Given the description of an element on the screen output the (x, y) to click on. 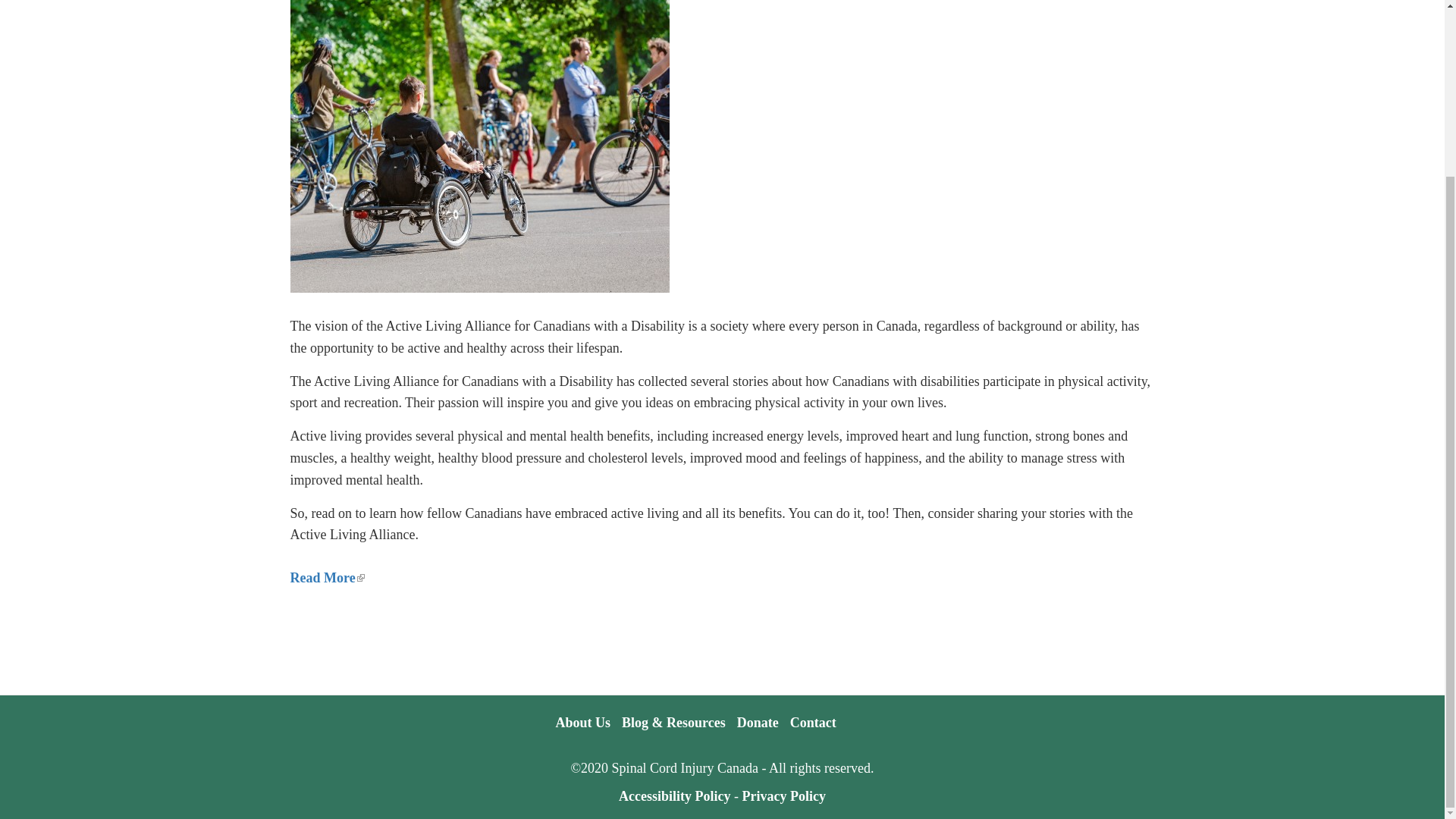
Privacy Policy (783, 795)
About Us (582, 722)
Donate (757, 722)
Contact (812, 722)
bikers  (478, 146)
Accessibility Policy (674, 795)
